Given the description of an element on the screen output the (x, y) to click on. 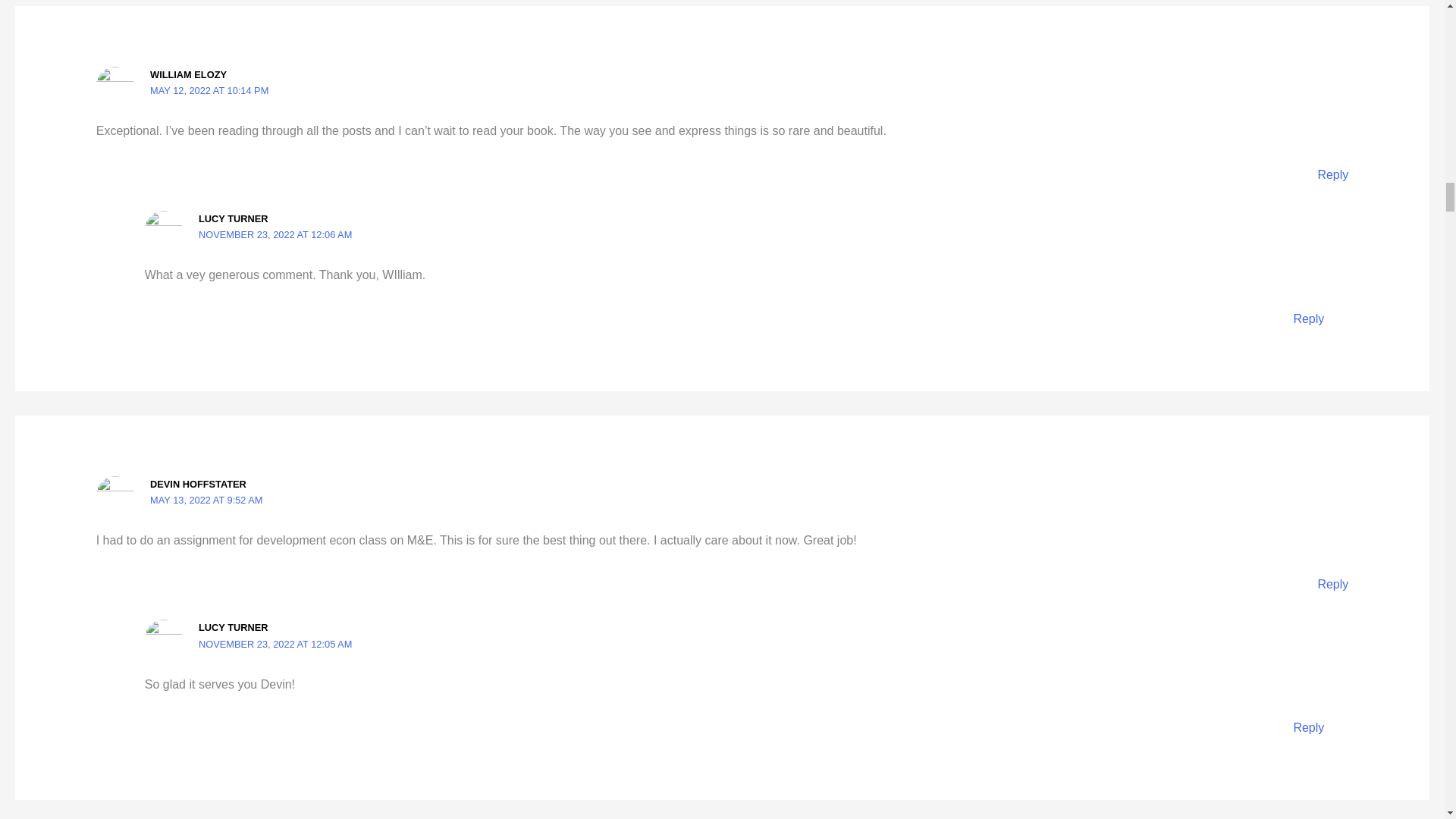
MAY 12, 2022 AT 10:14 PM (208, 90)
Reply (1332, 174)
